Given the description of an element on the screen output the (x, y) to click on. 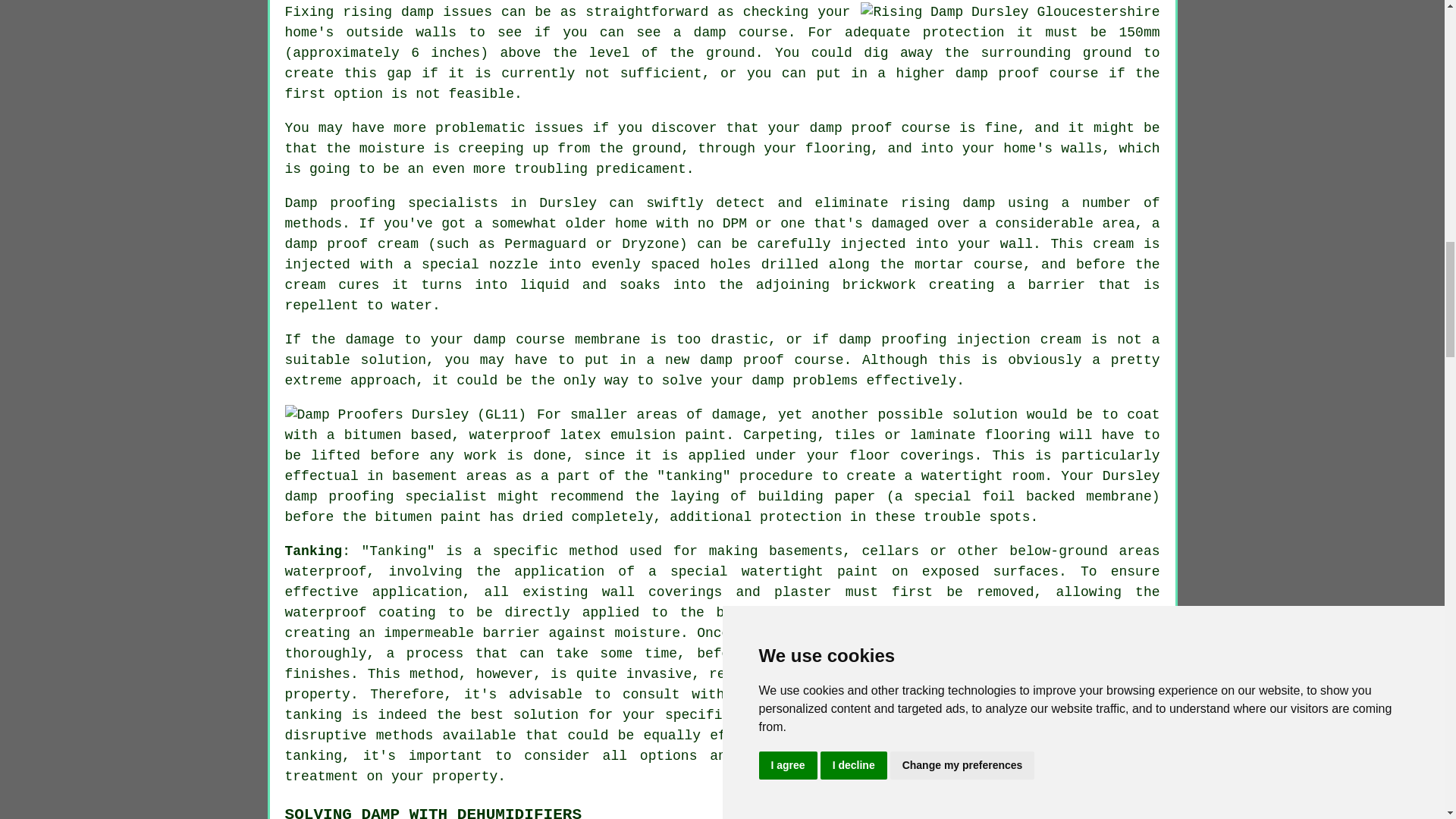
damp issues (845, 714)
Rising Damp Dursley Gloucestershire (1009, 12)
waterproof coating (360, 612)
